Given the description of an element on the screen output the (x, y) to click on. 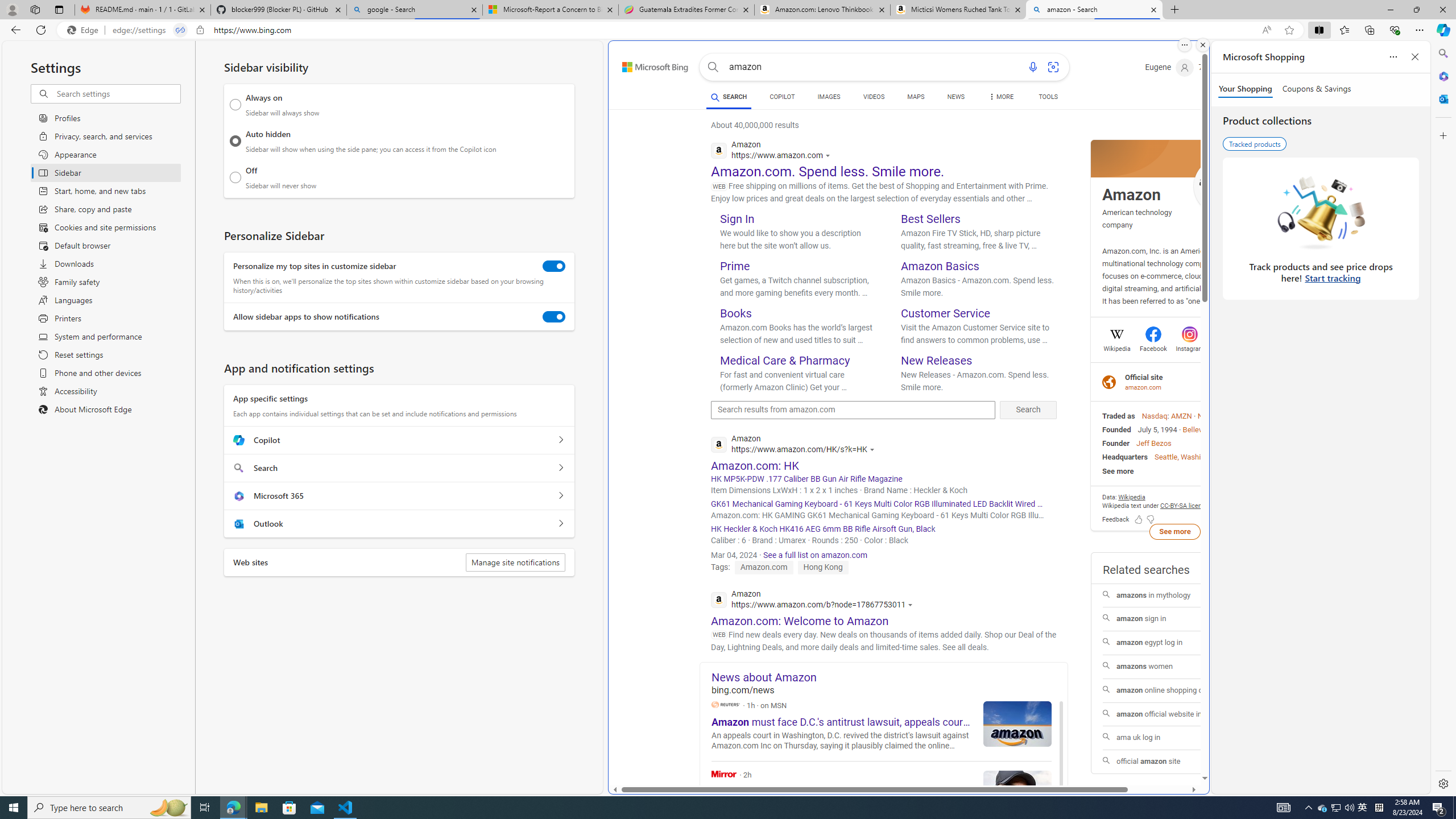
Prime (734, 265)
ama uk log in (1174, 738)
Amazon (1131, 194)
IMAGES (828, 98)
COPILOT (781, 98)
Off Sidebar will never show (235, 177)
amazon - Search (1094, 9)
bing.com/news (889, 689)
Dropdown Menu (1000, 96)
google - Search (414, 9)
Seattle, Washington (1187, 456)
